Given the description of an element on the screen output the (x, y) to click on. 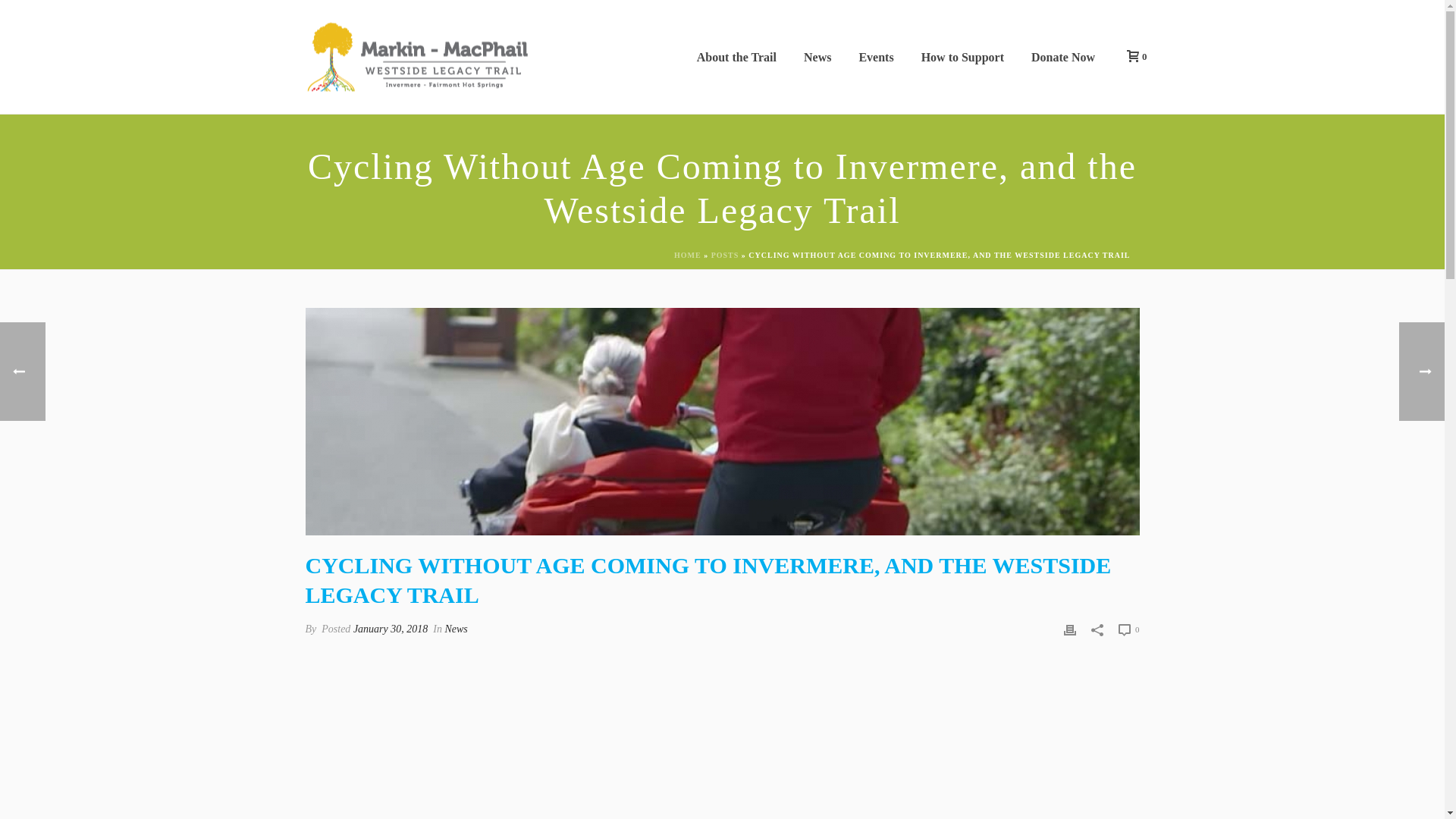
Events (875, 57)
Connecting Our Communities (418, 56)
News (455, 628)
0 (1133, 56)
0 (1128, 628)
About the Trail (736, 57)
January 30, 2018 (390, 628)
How to Support (962, 57)
Donate Now (1062, 57)
Events (875, 57)
How to Support (962, 57)
Donate Now (1062, 57)
News (817, 57)
News (817, 57)
